Given the description of an element on the screen output the (x, y) to click on. 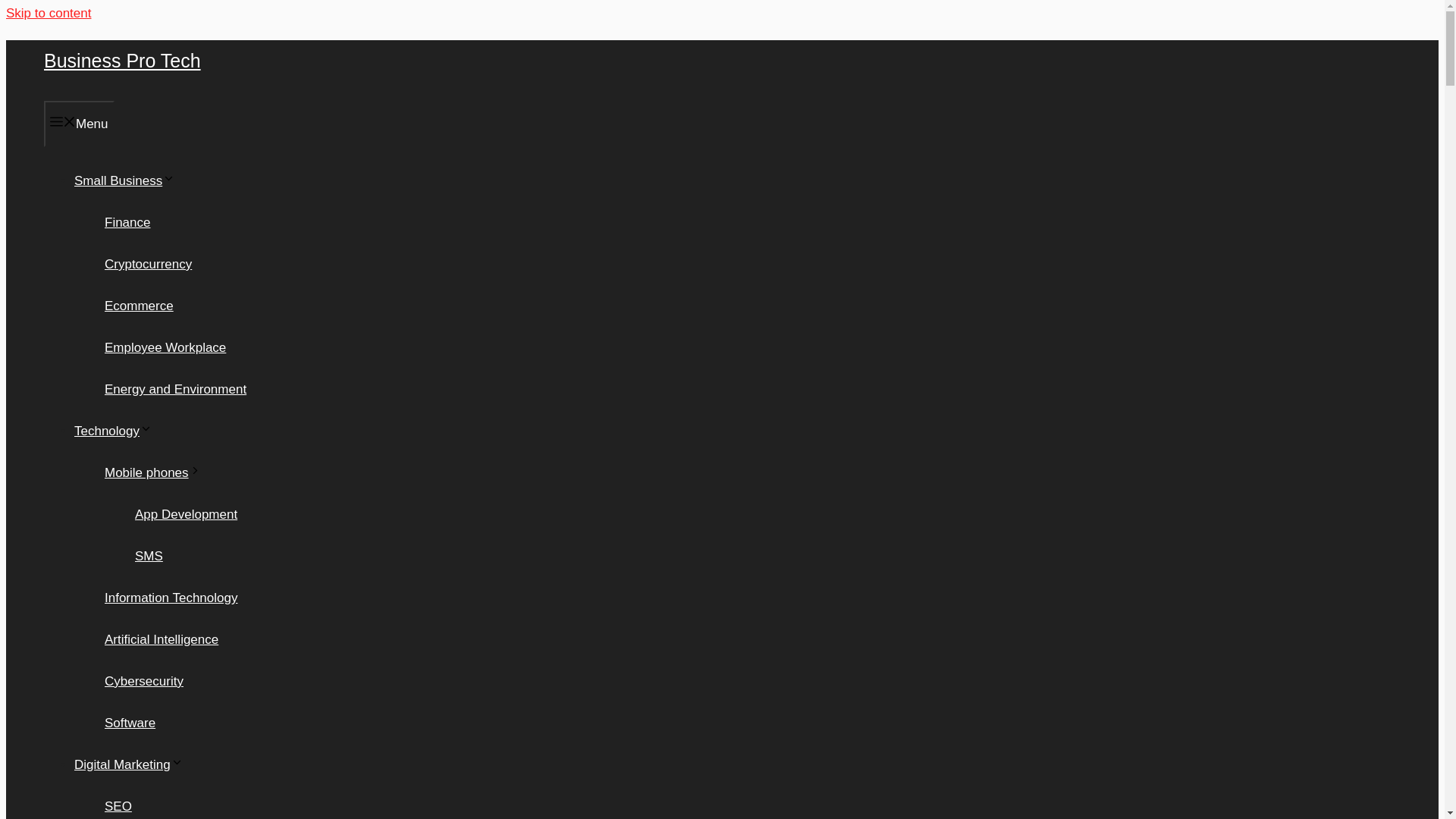
Skip to content (47, 12)
SMS (149, 555)
Skip to content (47, 12)
Energy and Environment (175, 389)
Mobile phones (153, 472)
Small Business (124, 180)
Employee Workplace (164, 347)
Finance (126, 222)
Digital Marketing (128, 764)
Menu (79, 123)
Cryptocurrency (148, 264)
App Development (186, 513)
Information Technology (170, 597)
Software (129, 722)
Ecommerce (138, 305)
